Given the description of an element on the screen output the (x, y) to click on. 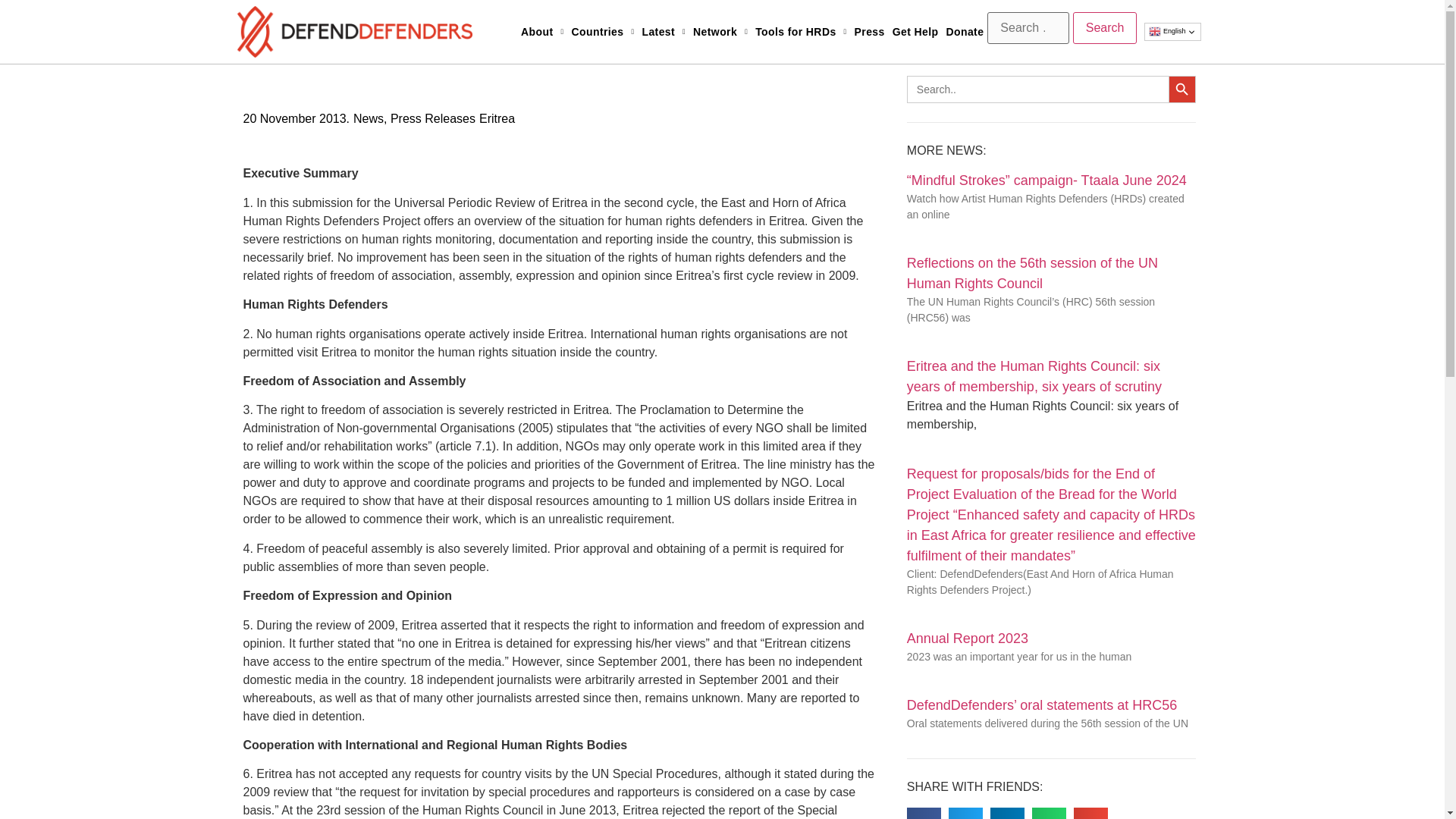
Network (719, 31)
Countries (603, 31)
Search (1105, 28)
Search (1105, 28)
